Given the description of an element on the screen output the (x, y) to click on. 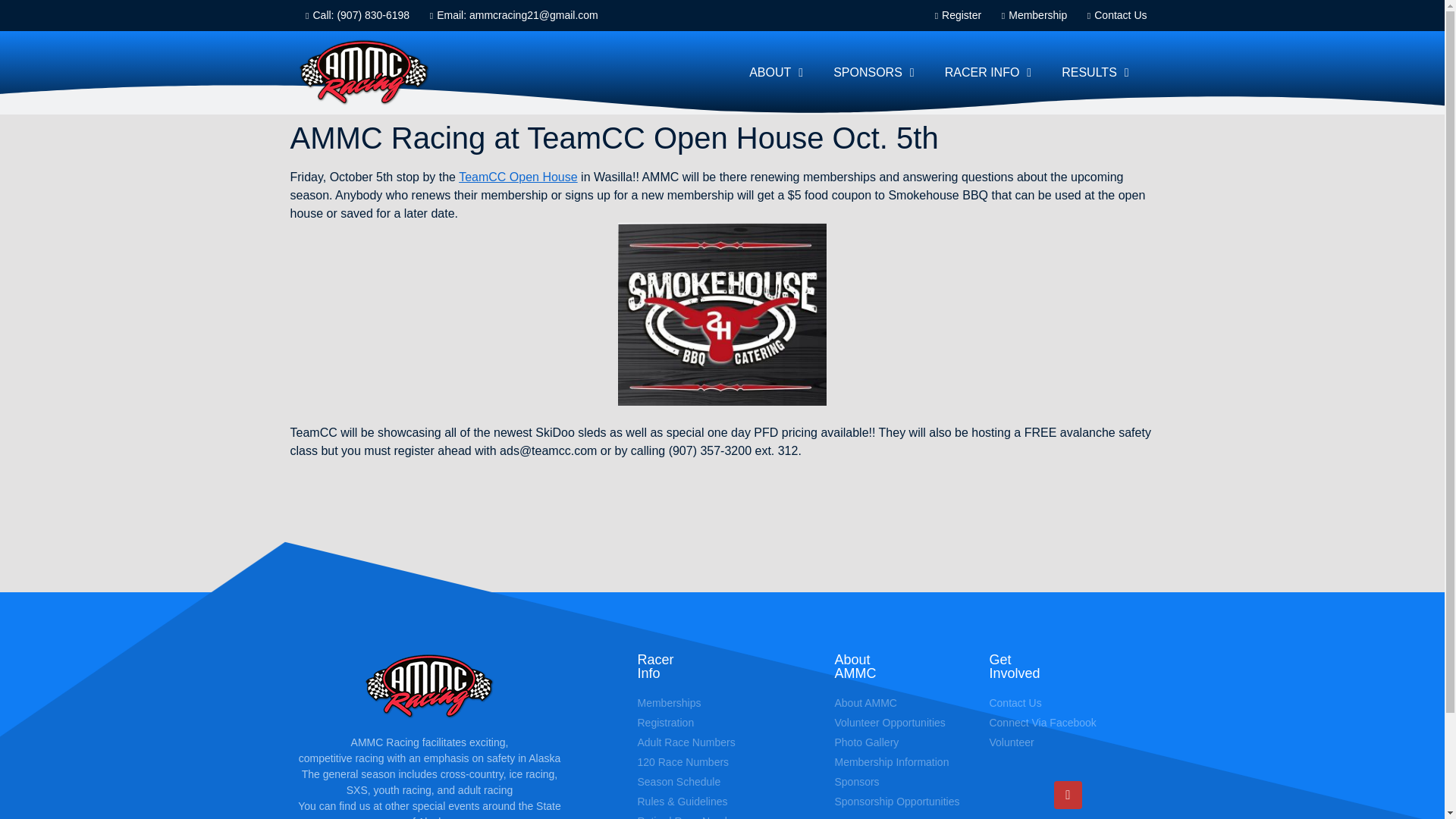
SPONSORS (874, 72)
Register (953, 15)
Membership (1029, 15)
Contact Us (1112, 15)
TeamCC Open House (518, 176)
RACER INFO (988, 72)
ABOUT (775, 72)
RESULTS (1094, 72)
